Given the description of an element on the screen output the (x, y) to click on. 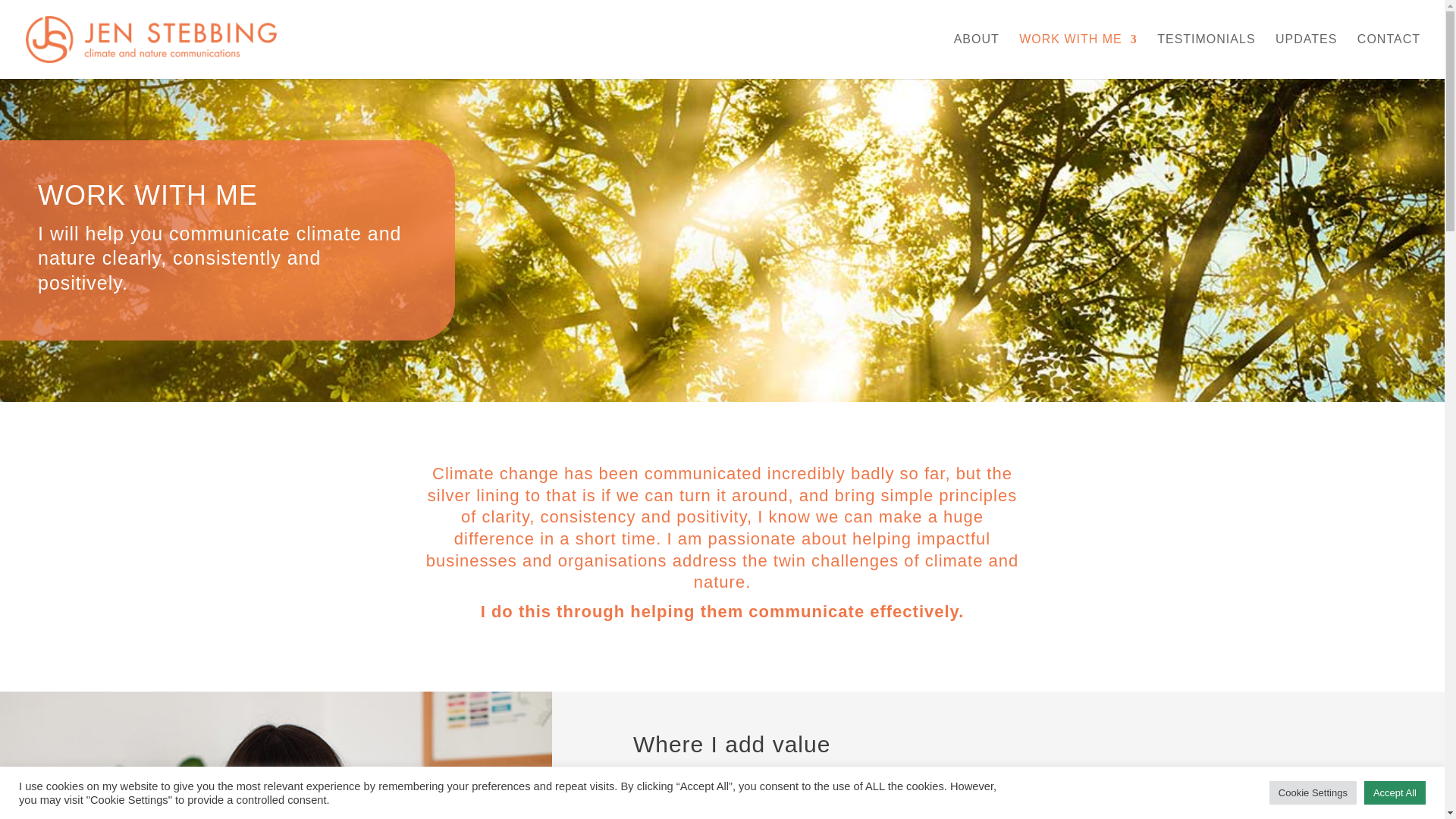
WORK WITH ME (1078, 56)
Accept All (1394, 792)
Cookie Settings (1312, 792)
TESTIMONIALS (1206, 56)
UPDATES (1305, 56)
ABOUT (975, 56)
CONTACT (1388, 56)
